Given the description of an element on the screen output the (x, y) to click on. 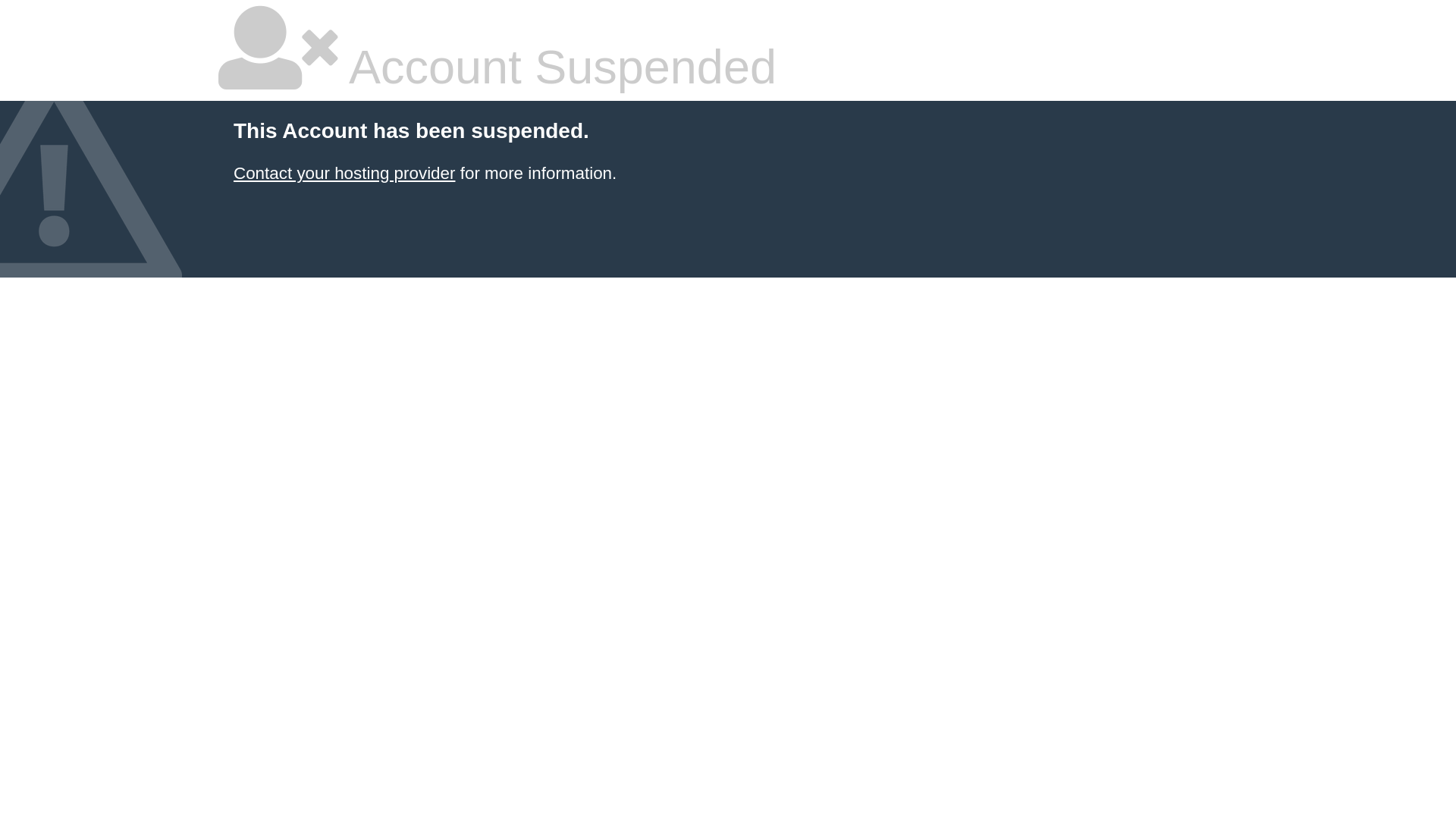
Contact your hosting provider Element type: text (344, 172)
